Given the description of an element on the screen output the (x, y) to click on. 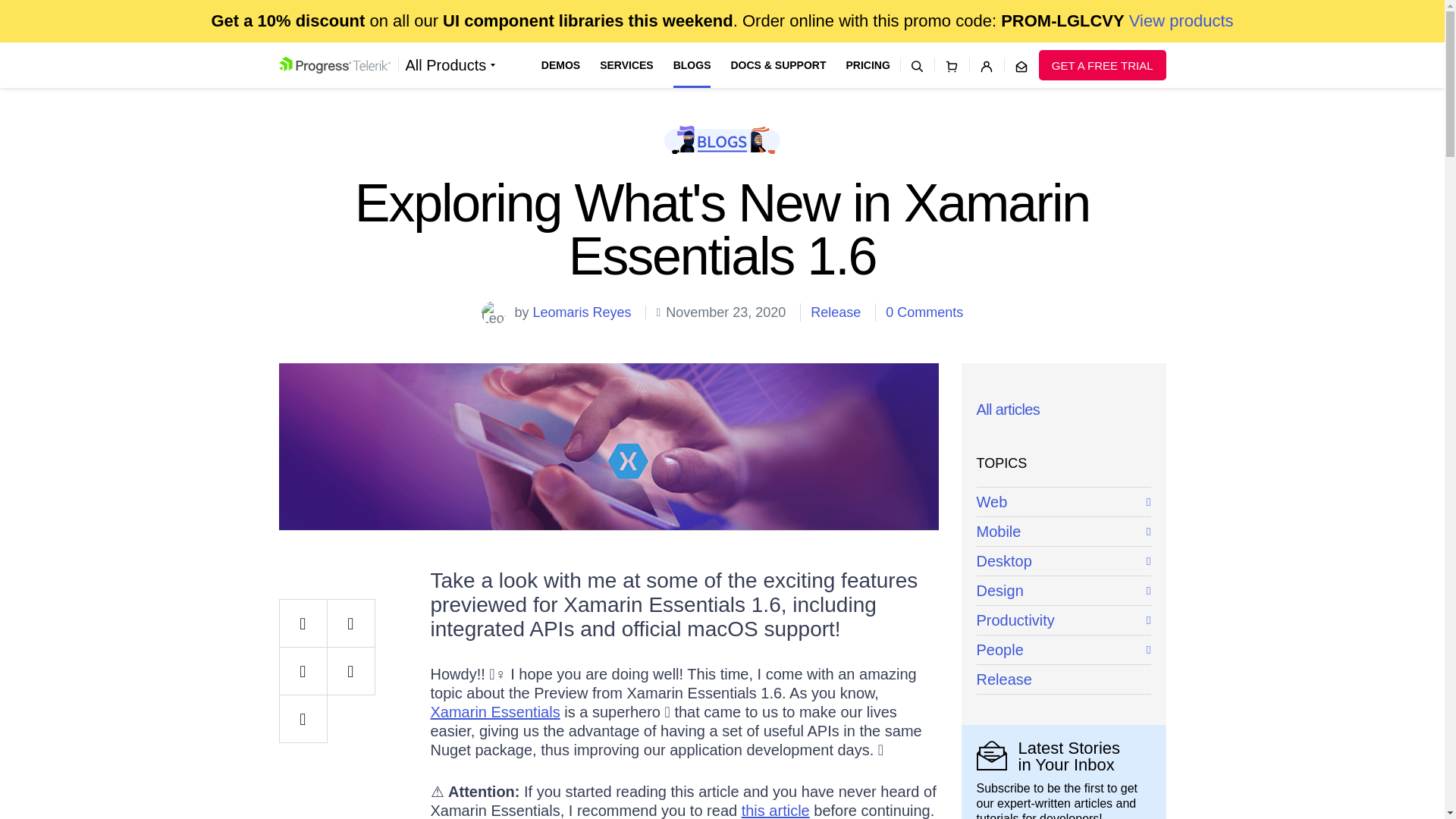
LeomarisReyes (493, 313)
Facebook Share Icon (303, 622)
All Products (449, 64)
Telerik blogs (721, 139)
SERVICES (626, 64)
View products (1181, 20)
SKIP NAVIGATION (339, 49)
Reddit Share Icon (350, 671)
Linkedin Share Icon (303, 671)
Feed Share Icon (303, 718)
